Given the description of an element on the screen output the (x, y) to click on. 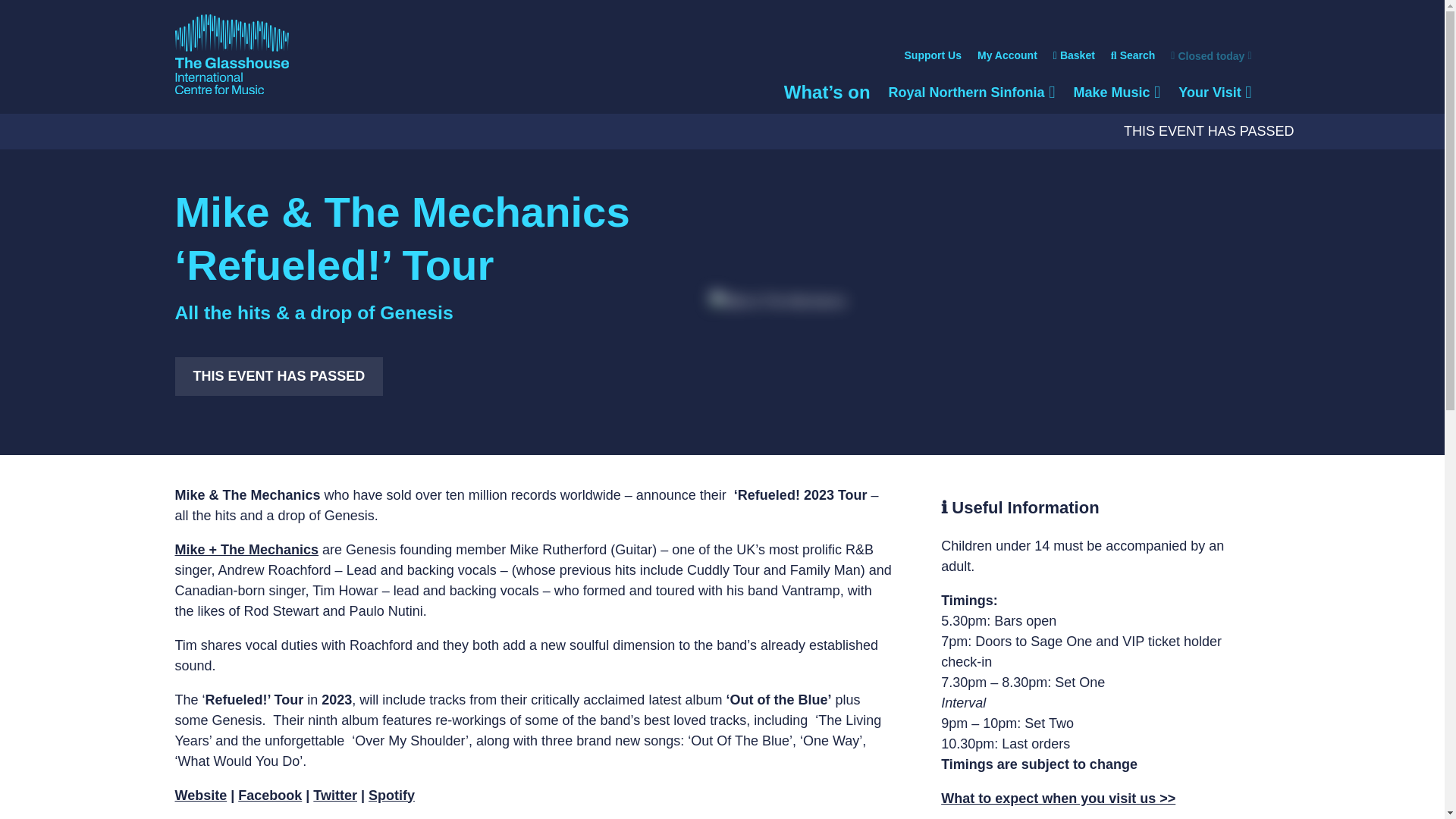
Search (1133, 55)
Basket (1116, 92)
My Account (1073, 55)
Support Us (1006, 55)
Closed today (932, 55)
The Glasshouse International Centre for Music logo (1202, 55)
